Given the description of an element on the screen output the (x, y) to click on. 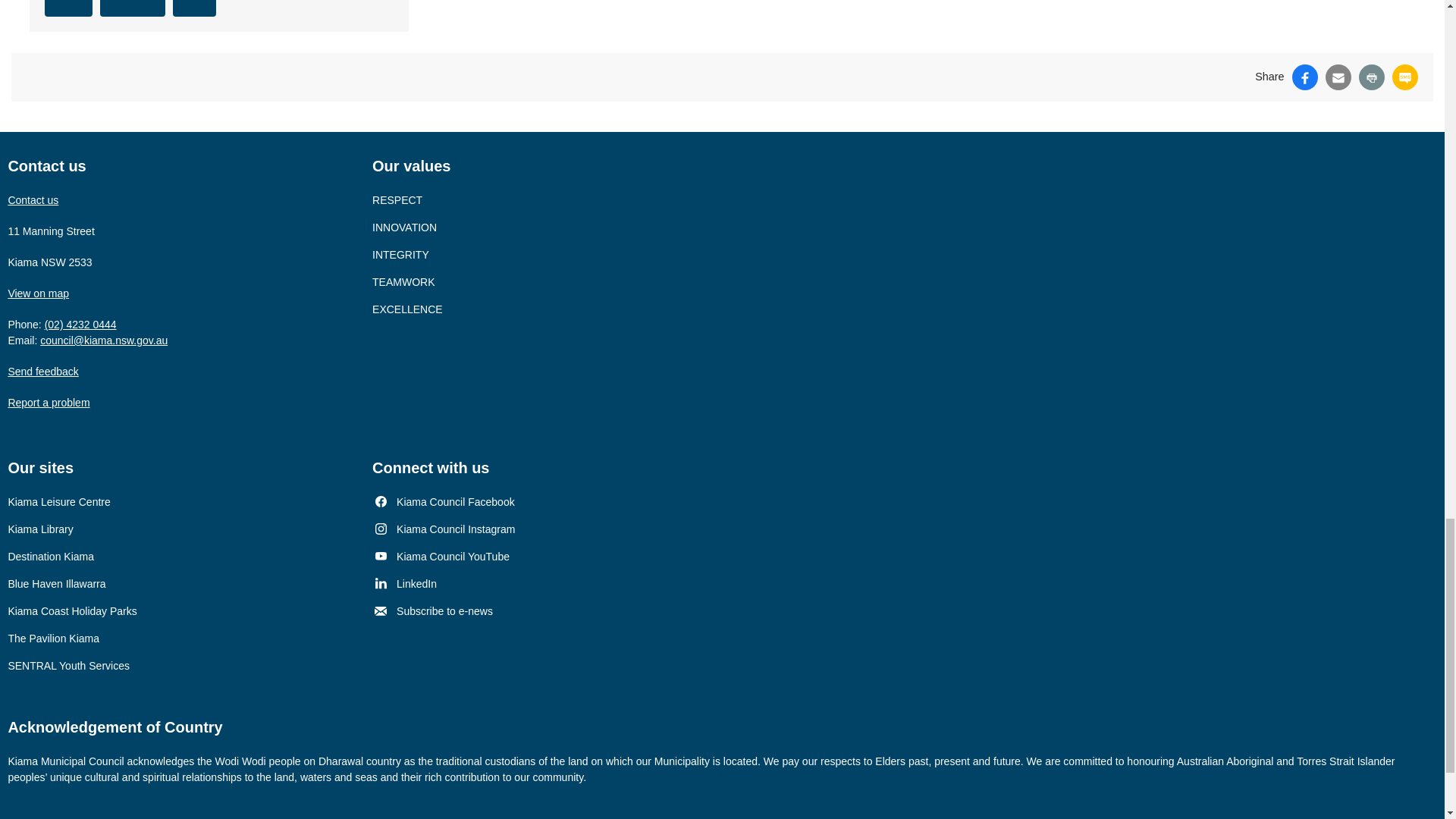
Maybe (132, 8)
No (194, 8)
Yes, this page was helpful (69, 8)
No, this page was not helpful (194, 8)
Yes (69, 8)
